Given the description of an element on the screen output the (x, y) to click on. 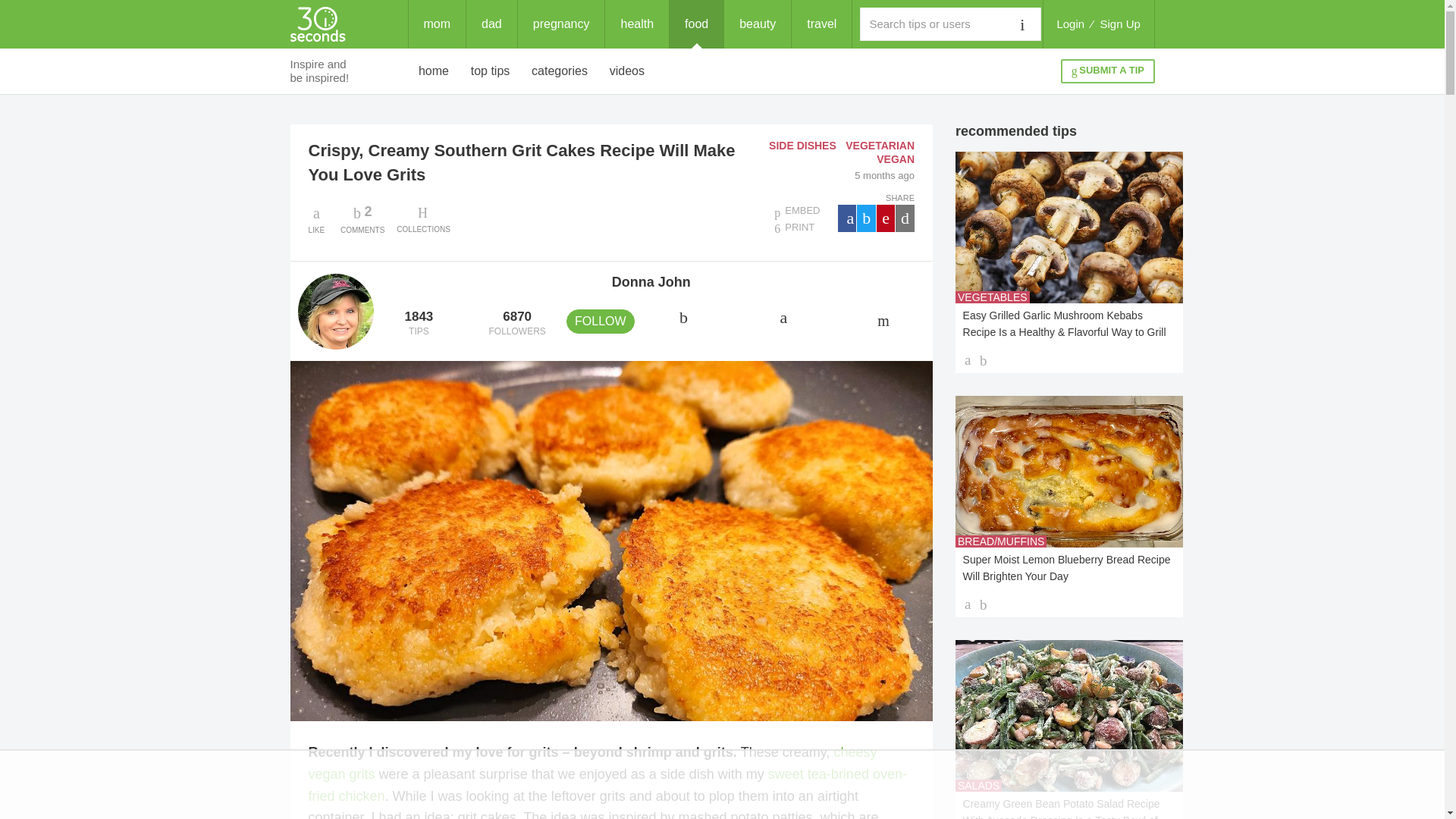
home (433, 71)
Sign Up (1120, 23)
beauty (756, 24)
pregnancy (561, 24)
travel (821, 24)
health (636, 24)
dad (490, 24)
mom (436, 24)
food (362, 218)
top tips (696, 24)
Login (489, 71)
categories (1069, 23)
